Given the description of an element on the screen output the (x, y) to click on. 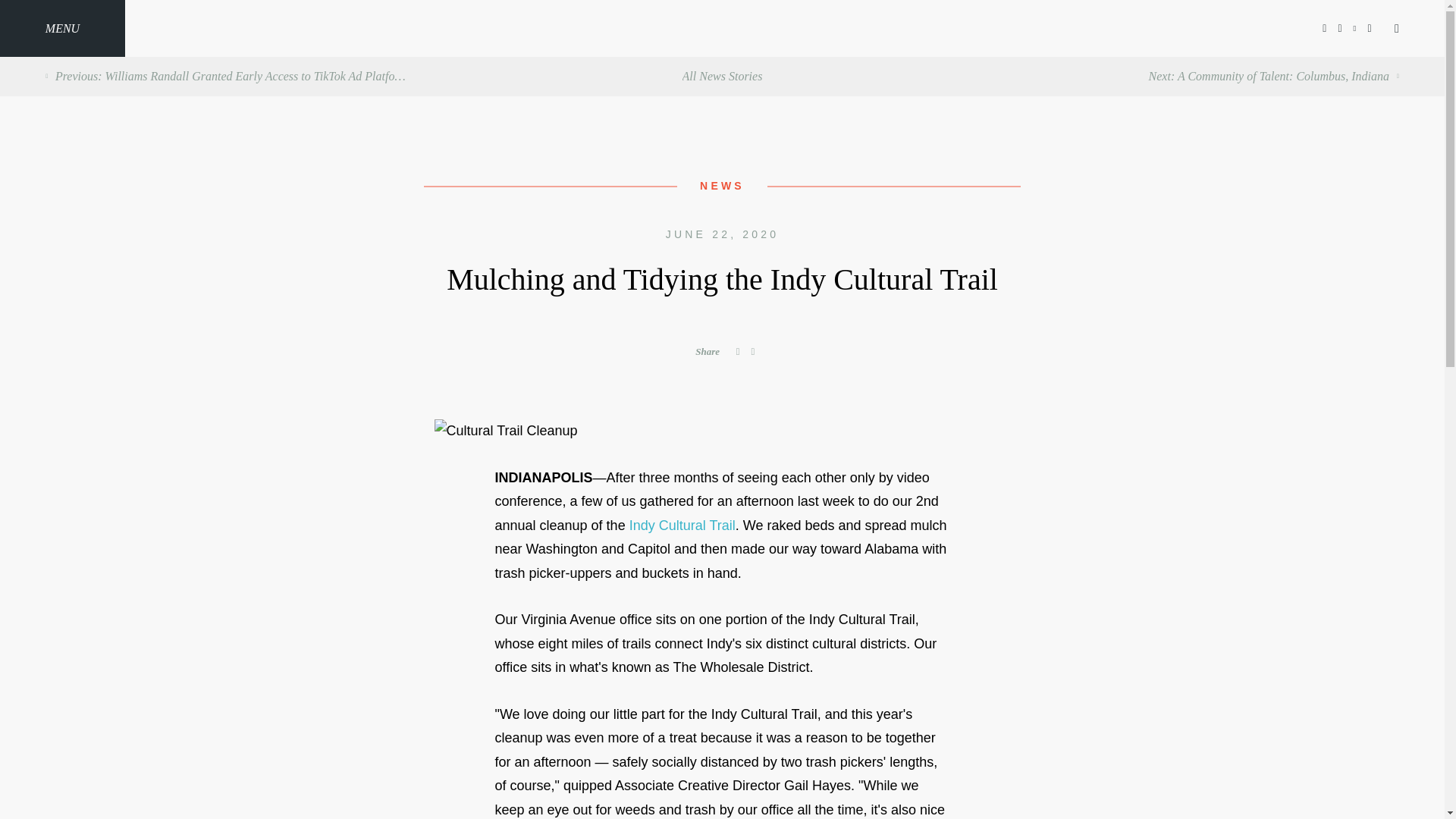
NEWS (722, 185)
go (721, 613)
Indy Cultural Trail (681, 525)
Subscribe (722, 530)
All News Stories (722, 76)
